Given the description of an element on the screen output the (x, y) to click on. 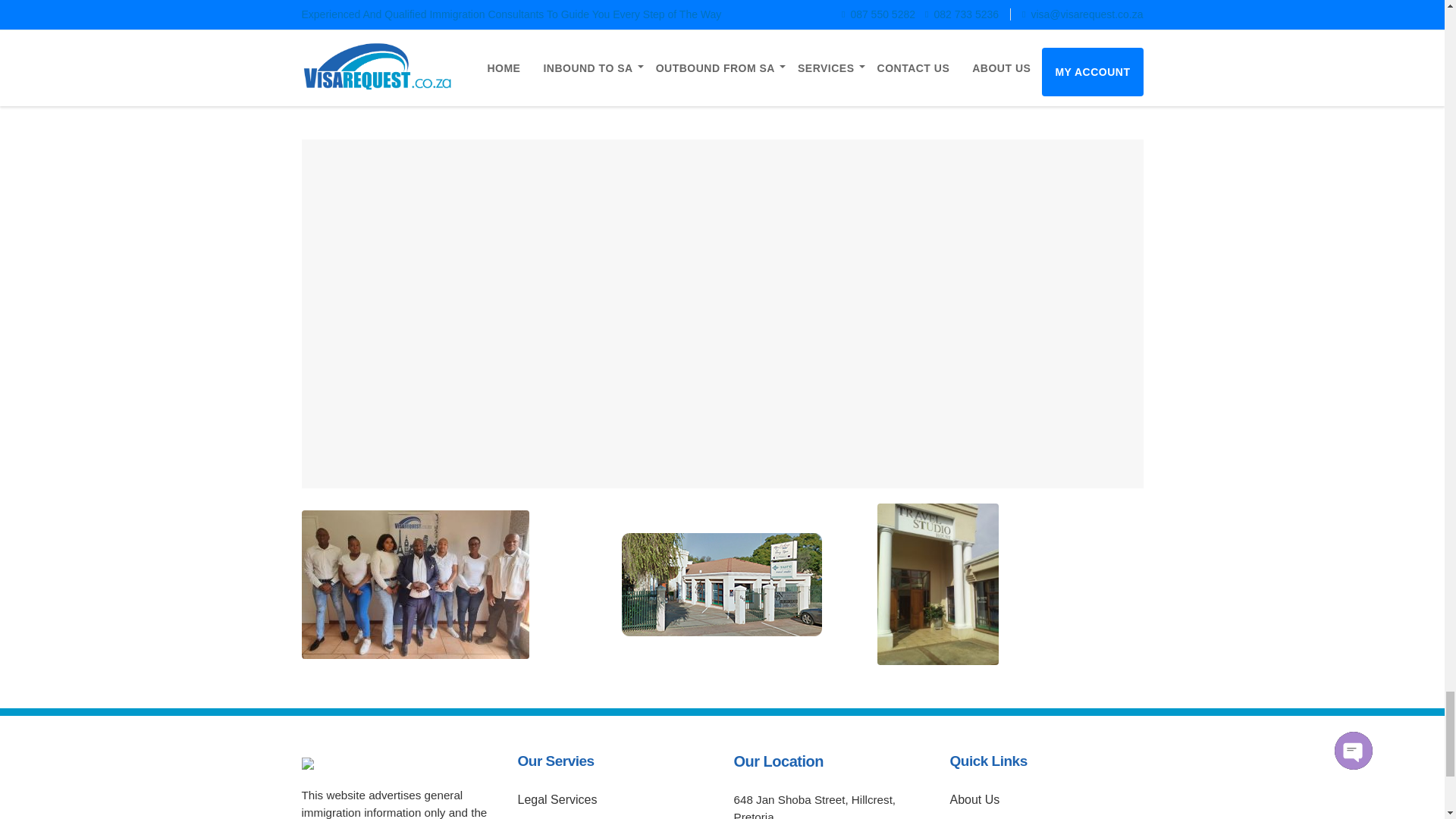
buliding (721, 584)
